Given the description of an element on the screen output the (x, y) to click on. 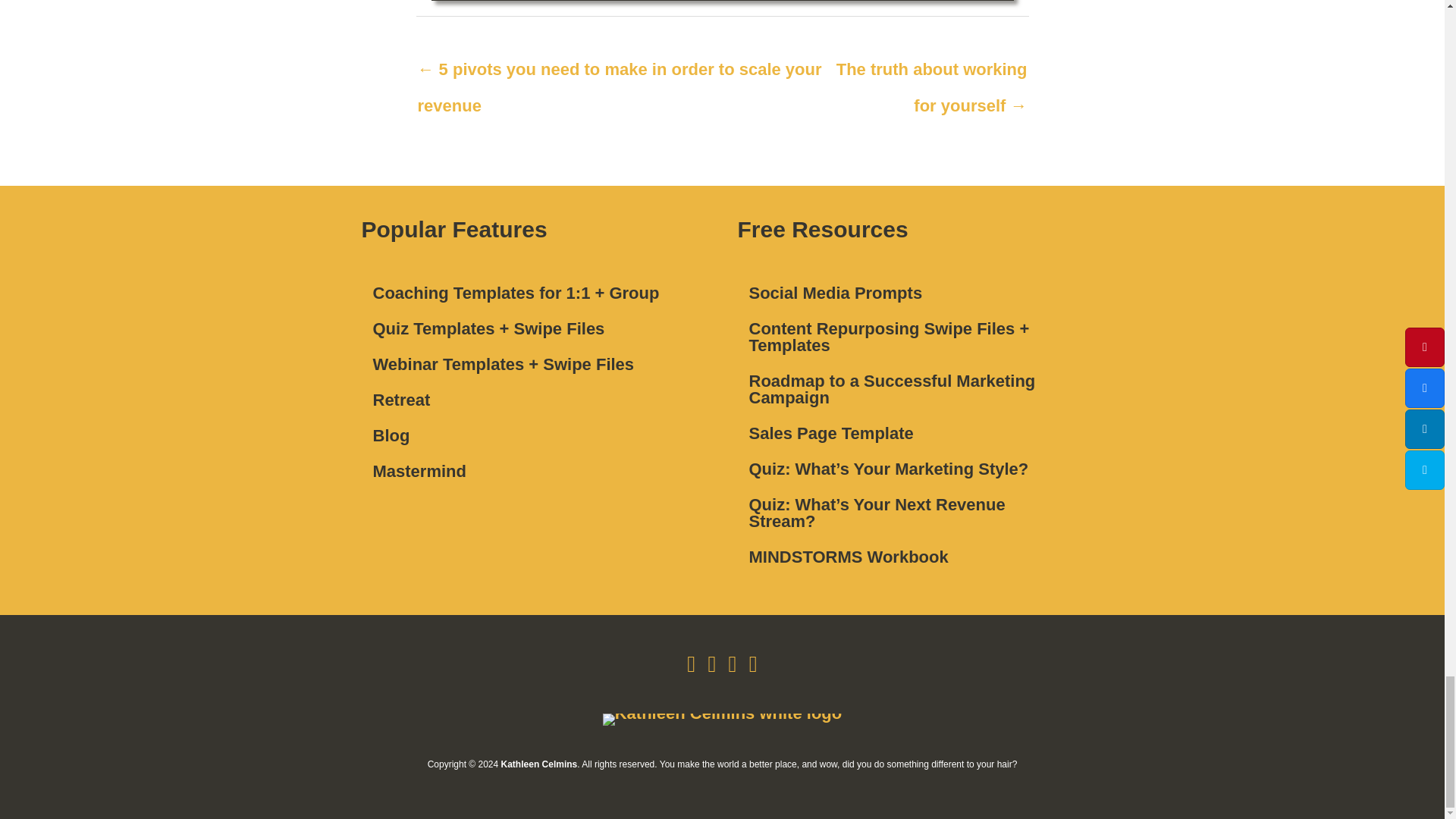
Blog (534, 436)
MINDSTORMS Workbook (910, 557)
Roadmap to a Successful Marketing Campaign (910, 389)
Social Media Prompts (910, 293)
Kathleen Celmins white logo (721, 719)
Retreat (534, 400)
Mastermind (534, 471)
Sales Page Template (910, 433)
